Given the description of an element on the screen output the (x, y) to click on. 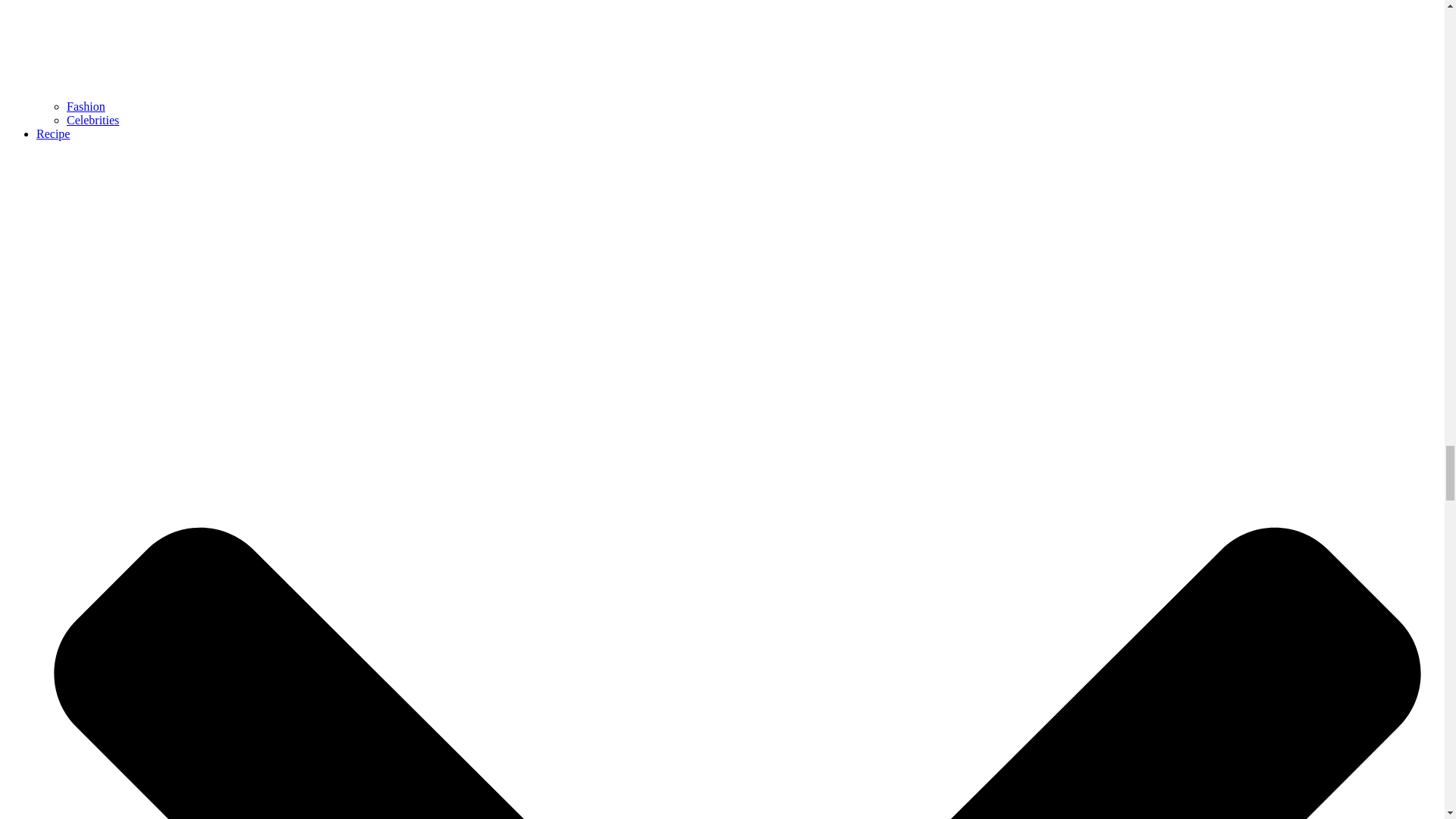
Celebrities (92, 119)
Fashion (85, 106)
Fashion (85, 106)
Celebrities (92, 119)
